Given the description of an element on the screen output the (x, y) to click on. 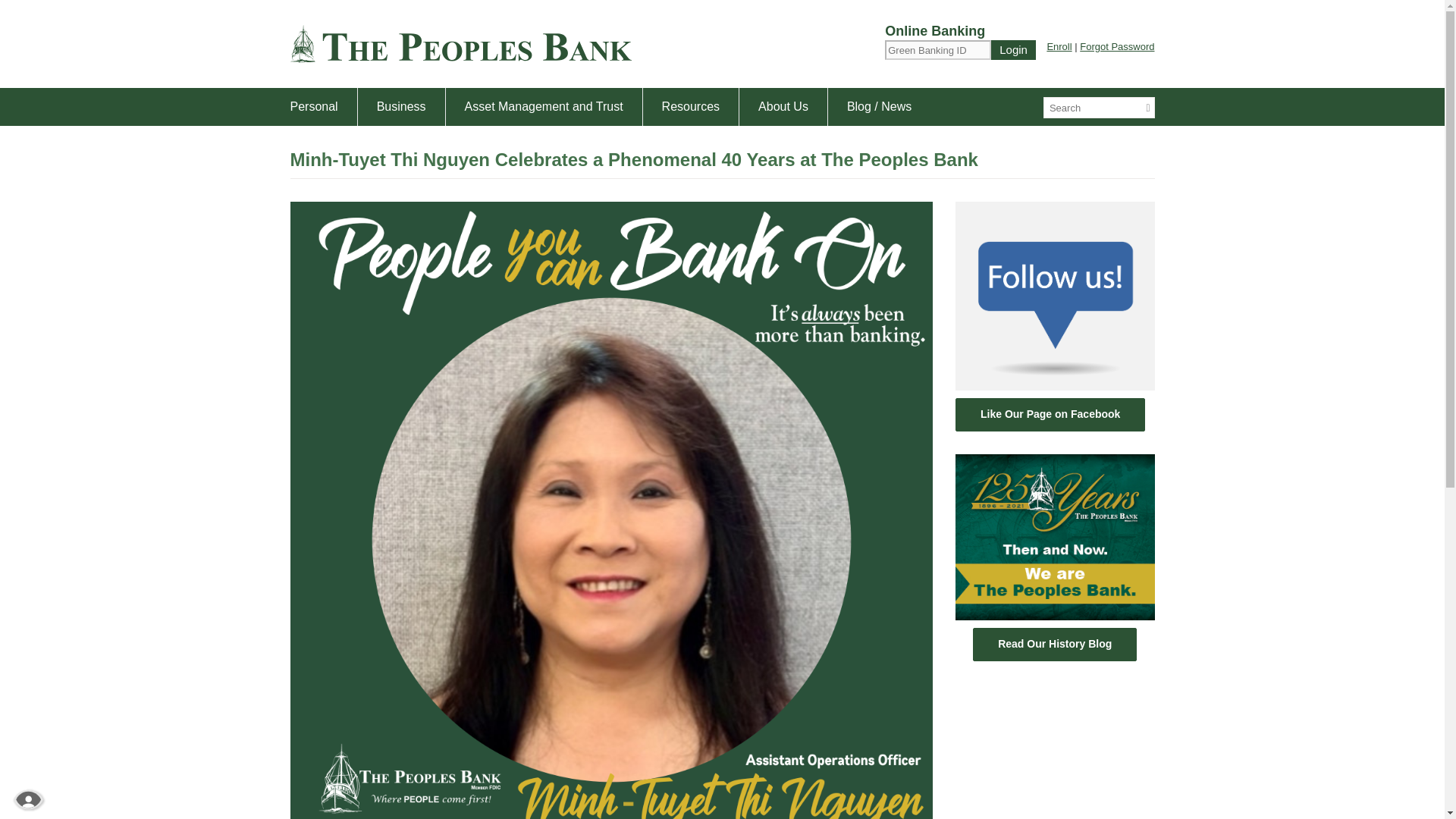
Forgot Password (1117, 46)
Username (938, 49)
Asset Management and Trust (543, 106)
Login (1013, 49)
Enter search terms (1095, 107)
The Peoples Bank, Biloxi, MS (459, 43)
Enroll (1058, 46)
